Given the description of an element on the screen output the (x, y) to click on. 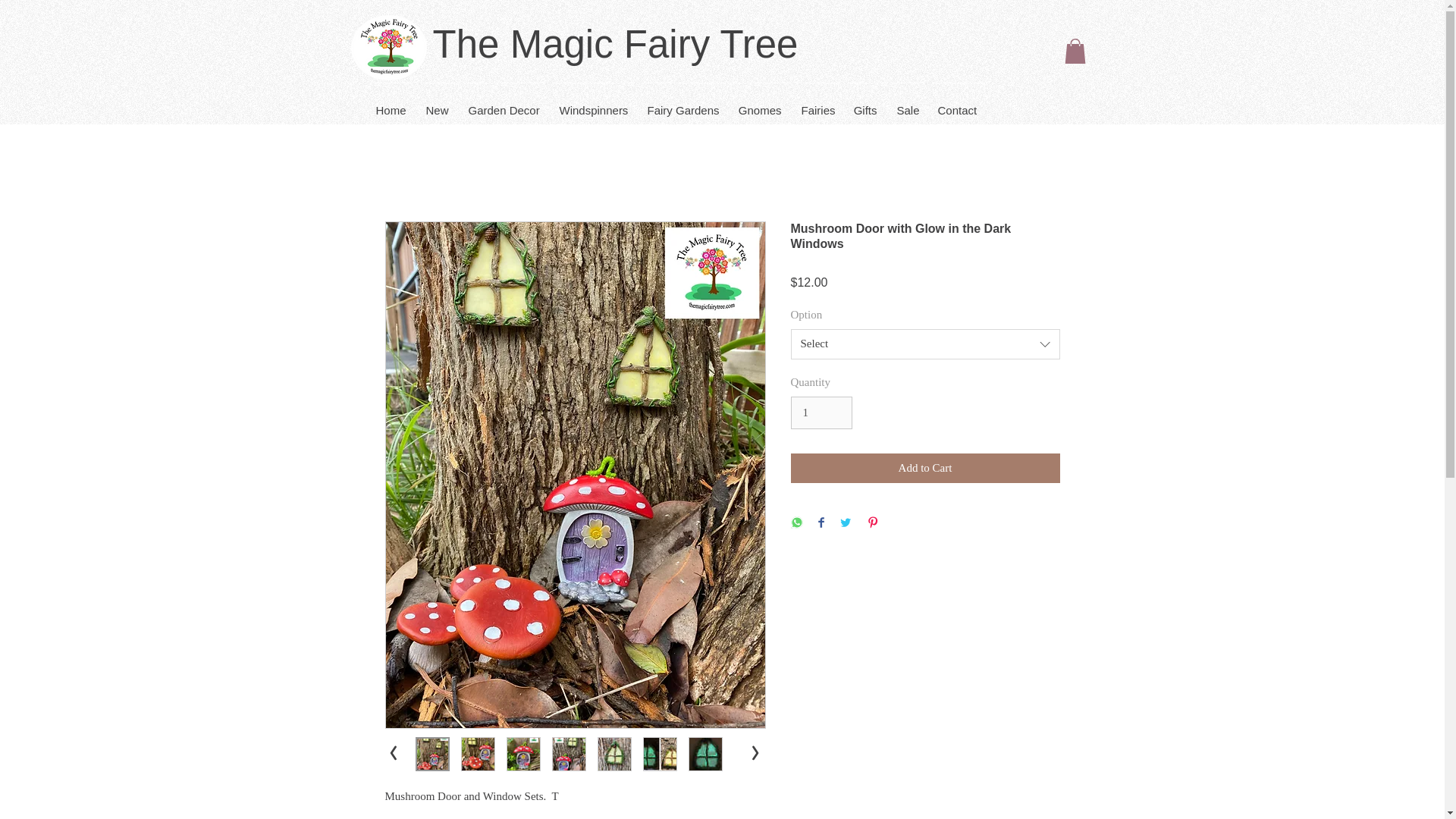
Fairies (818, 103)
Gifts (864, 103)
Gnomes (759, 103)
New (436, 103)
Garden Decor (503, 103)
Home (389, 103)
Windspinners (592, 103)
The Magic Fairy Tree (614, 44)
Fairy Gardens (682, 103)
1 (820, 412)
